Given the description of an element on the screen output the (x, y) to click on. 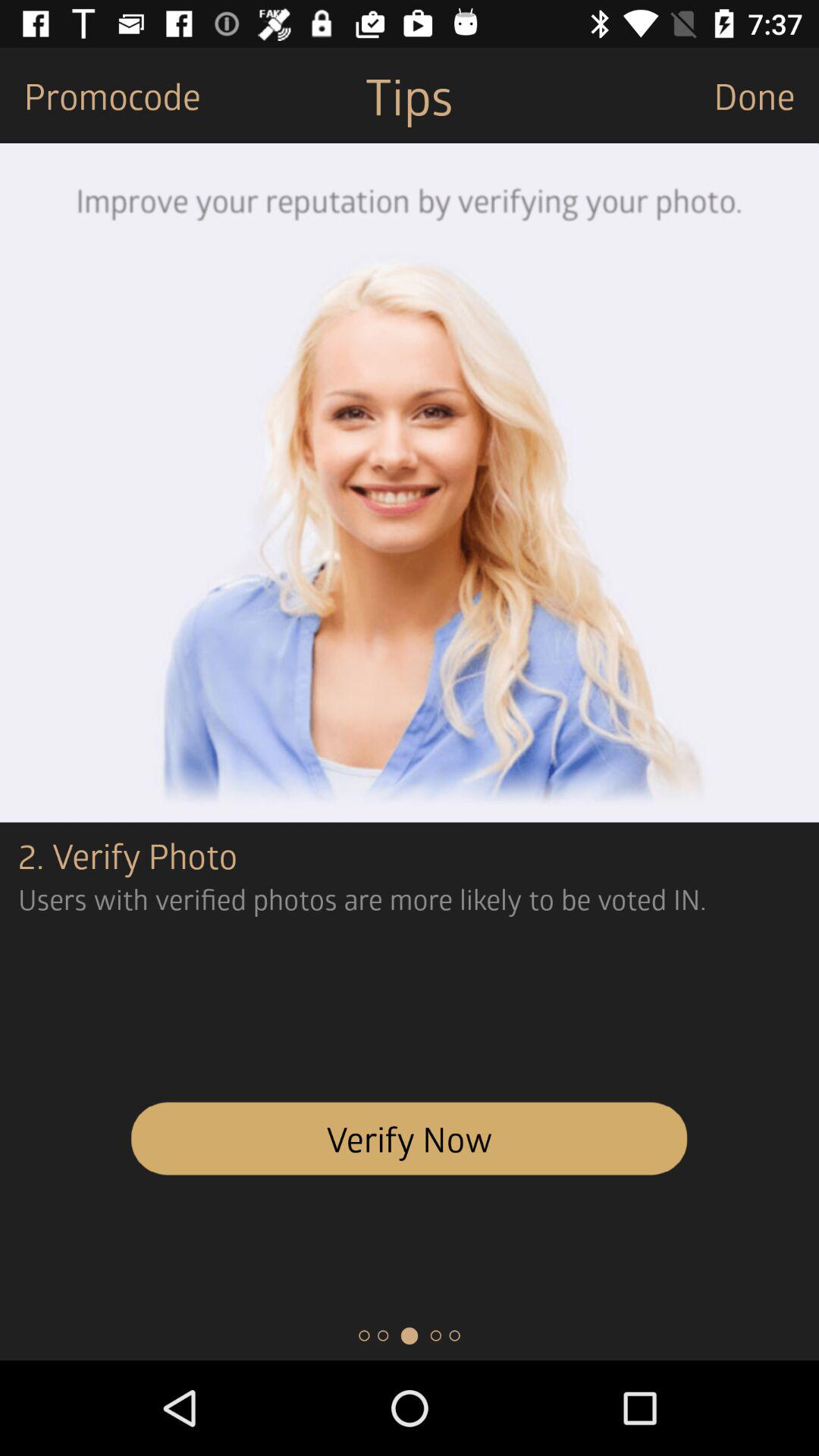
choose the icon to the right of tips (766, 95)
